Given the description of an element on the screen output the (x, y) to click on. 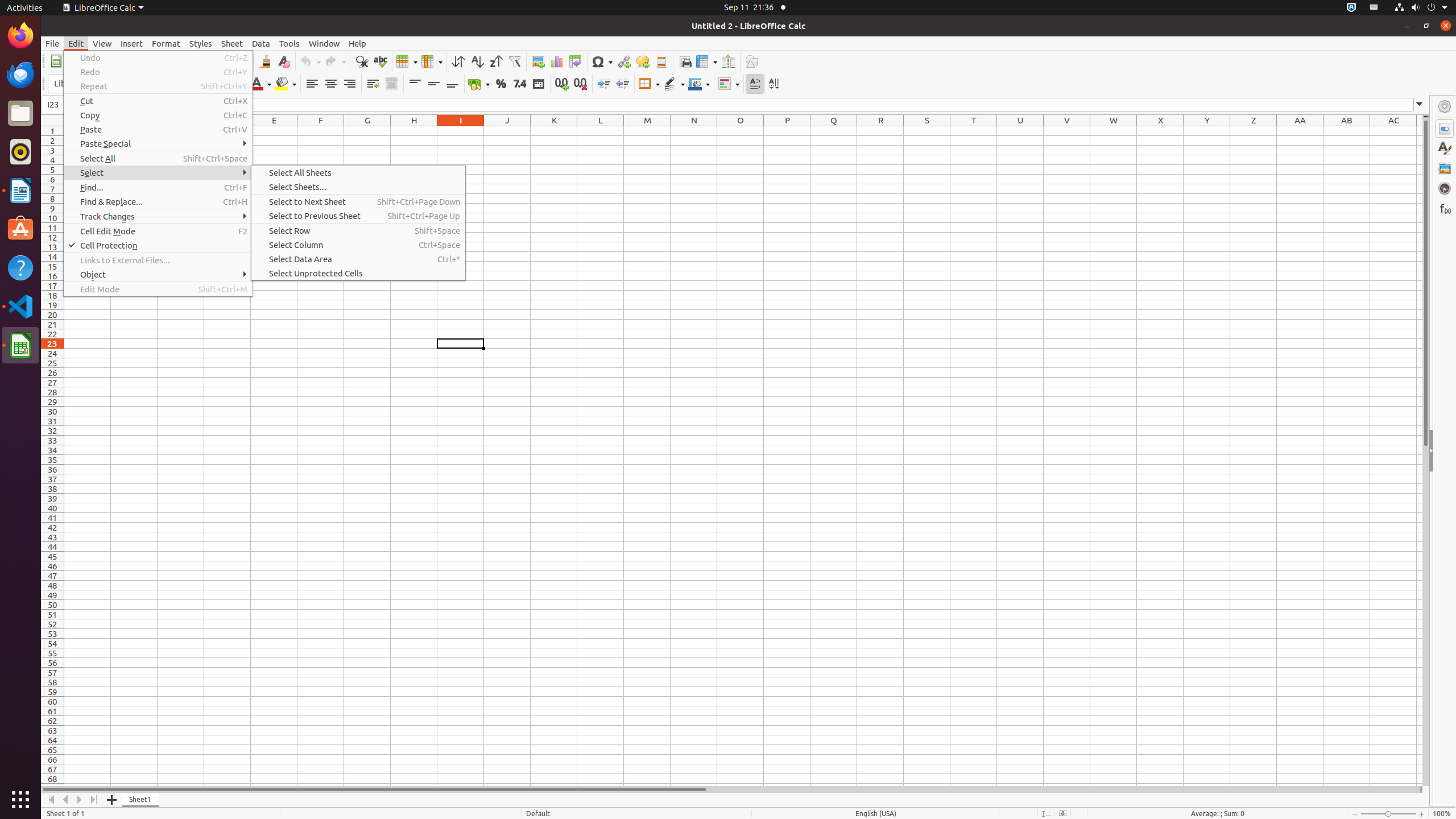
Properties Element type: radio-button (1444, 128)
LibreOffice Calc Element type: menu (102, 7)
Q1 Element type: table-cell (833, 130)
R1 Element type: table-cell (880, 130)
Vertical scroll bar Element type: scroll-bar (1425, 451)
